Given the description of an element on the screen output the (x, y) to click on. 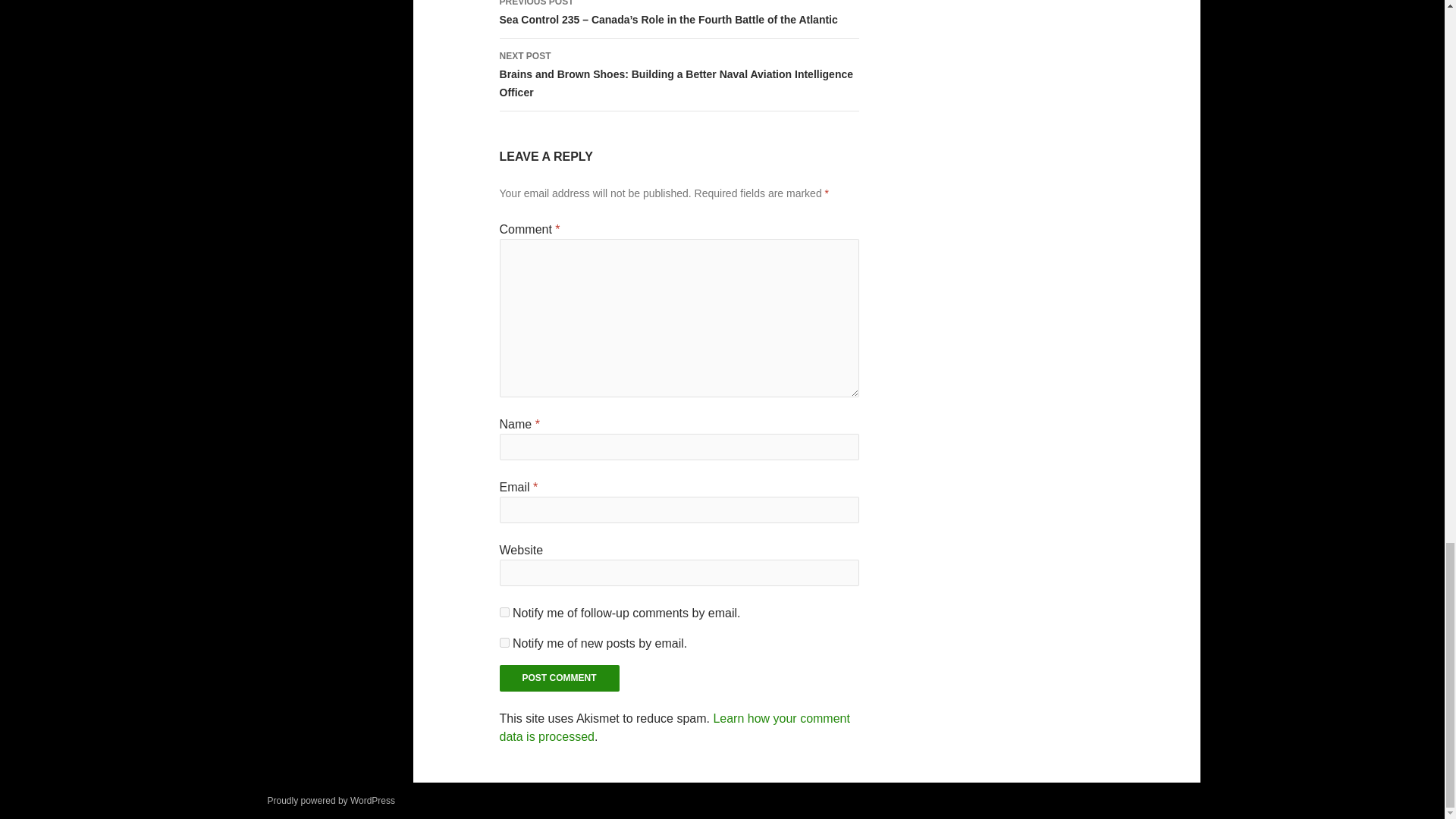
Post Comment (559, 678)
subscribe (504, 612)
subscribe (504, 642)
